Given the description of an element on the screen output the (x, y) to click on. 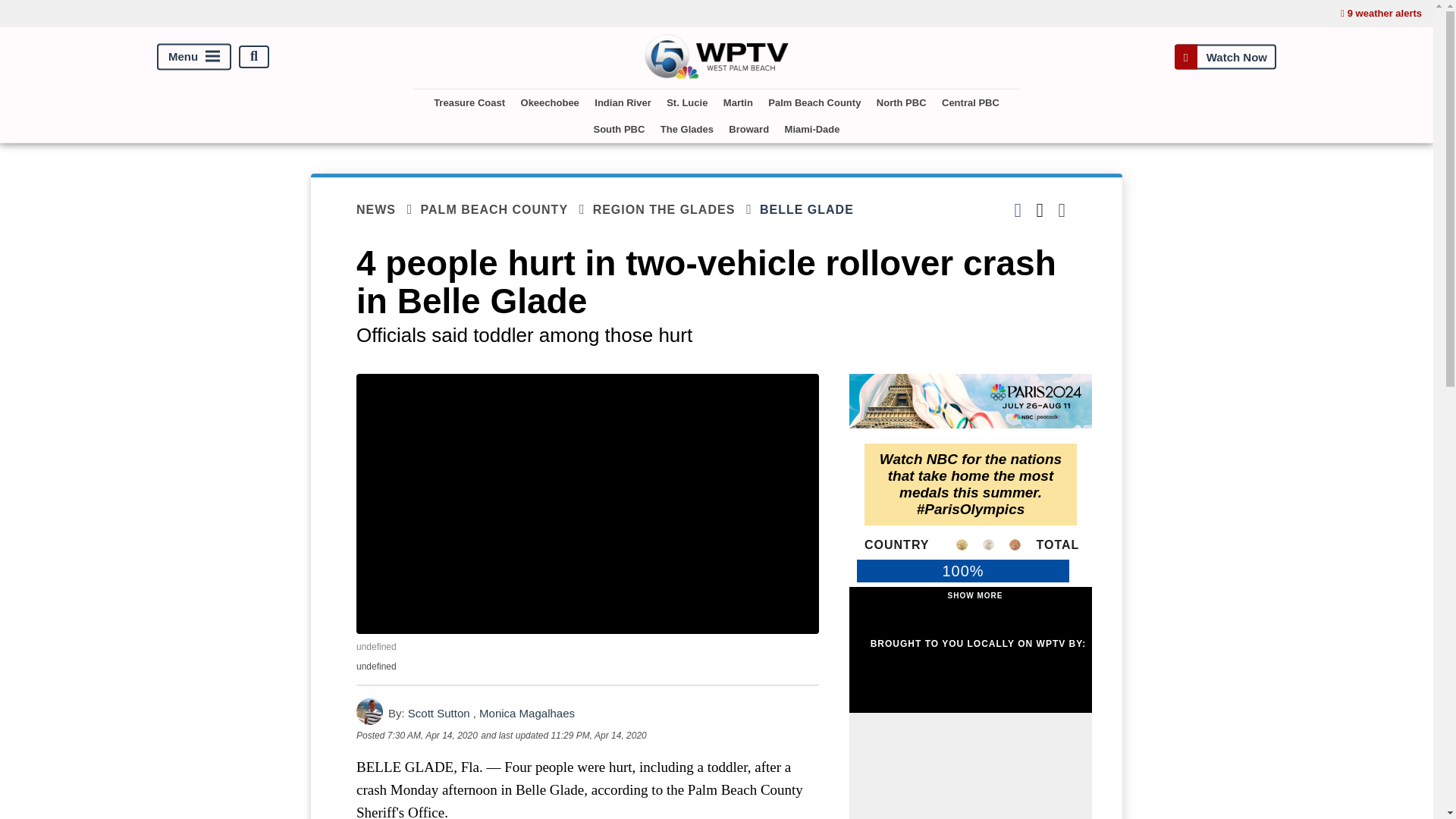
Watch Now (1224, 56)
Menu (194, 56)
